Given the description of an element on the screen output the (x, y) to click on. 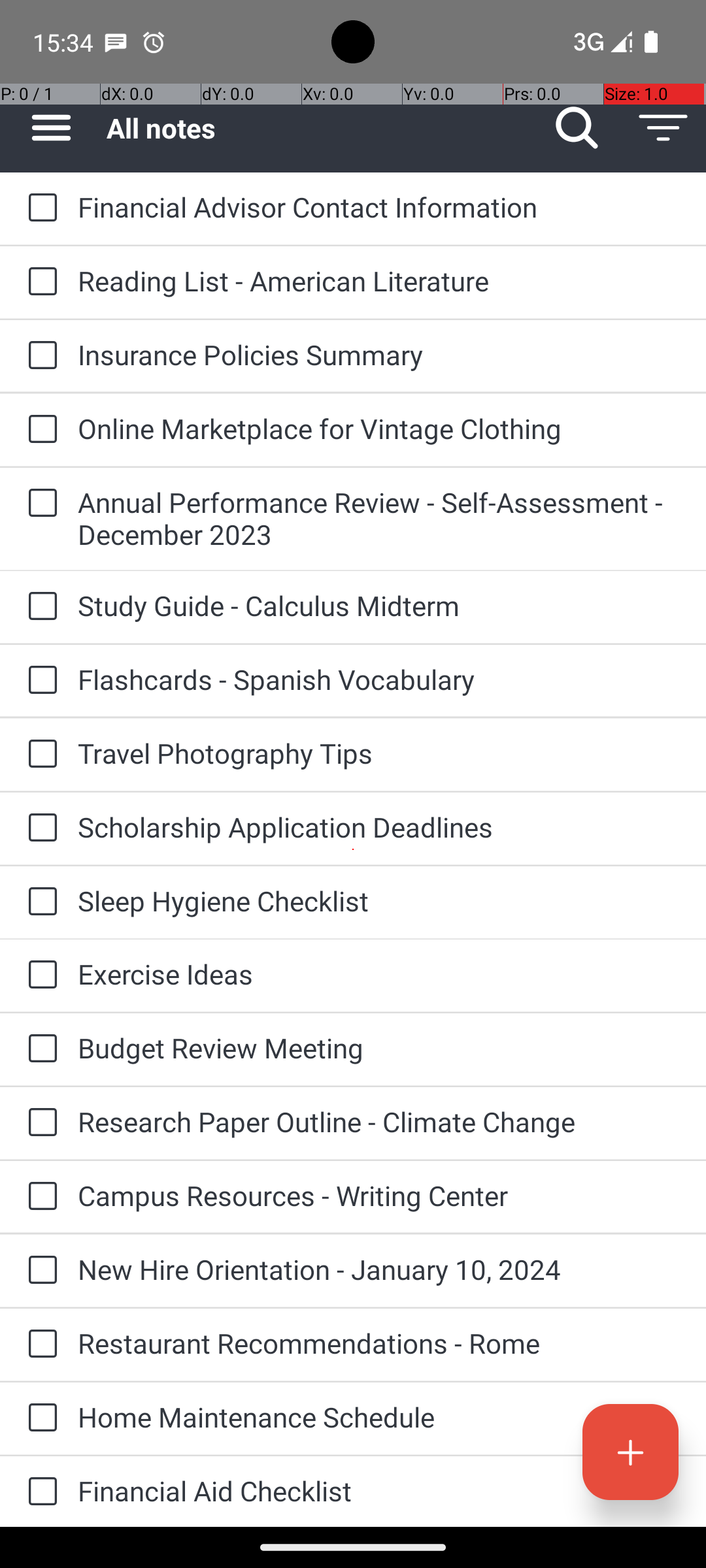
to-do: Reading List - American Literature Element type: android.widget.CheckBox (38, 282)
Reading List - American Literature Element type: android.widget.TextView (378, 280)
to-do: Insurance Policies Summary Element type: android.widget.CheckBox (38, 356)
Insurance Policies Summary Element type: android.widget.TextView (378, 354)
to-do: Study Guide - Calculus Midterm Element type: android.widget.CheckBox (38, 606)
Study Guide - Calculus Midterm Element type: android.widget.TextView (378, 604)
to-do: Flashcards - Spanish Vocabulary Element type: android.widget.CheckBox (38, 680)
Flashcards - Spanish Vocabulary Element type: android.widget.TextView (378, 678)
to-do: Travel Photography Tips Element type: android.widget.CheckBox (38, 754)
Travel Photography Tips Element type: android.widget.TextView (378, 752)
to-do: Scholarship Application Deadlines Element type: android.widget.CheckBox (38, 828)
Scholarship Application Deadlines Element type: android.widget.TextView (378, 826)
to-do: Sleep Hygiene Checklist Element type: android.widget.CheckBox (38, 902)
Sleep Hygiene Checklist Element type: android.widget.TextView (378, 900)
to-do: Exercise Ideas Element type: android.widget.CheckBox (38, 975)
Exercise Ideas Element type: android.widget.TextView (378, 973)
to-do: Budget Review Meeting Element type: android.widget.CheckBox (38, 1049)
Budget Review Meeting Element type: android.widget.TextView (378, 1047)
to-do: Research Paper Outline - Climate Change Element type: android.widget.CheckBox (38, 1123)
Research Paper Outline - Climate Change Element type: android.widget.TextView (378, 1121)
to-do: Campus Resources - Writing Center Element type: android.widget.CheckBox (38, 1196)
Campus Resources - Writing Center Element type: android.widget.TextView (378, 1194)
to-do: New Hire Orientation - January 10, 2024 Element type: android.widget.CheckBox (38, 1270)
New Hire Orientation - January 10, 2024 Element type: android.widget.TextView (378, 1268)
to-do: Home Maintenance Schedule Element type: android.widget.CheckBox (38, 1418)
Home Maintenance Schedule Element type: android.widget.TextView (378, 1416)
to-do: Financial Aid Checklist Element type: android.widget.CheckBox (38, 1491)
Financial Aid Checklist Element type: android.widget.TextView (378, 1490)
